Given the description of an element on the screen output the (x, y) to click on. 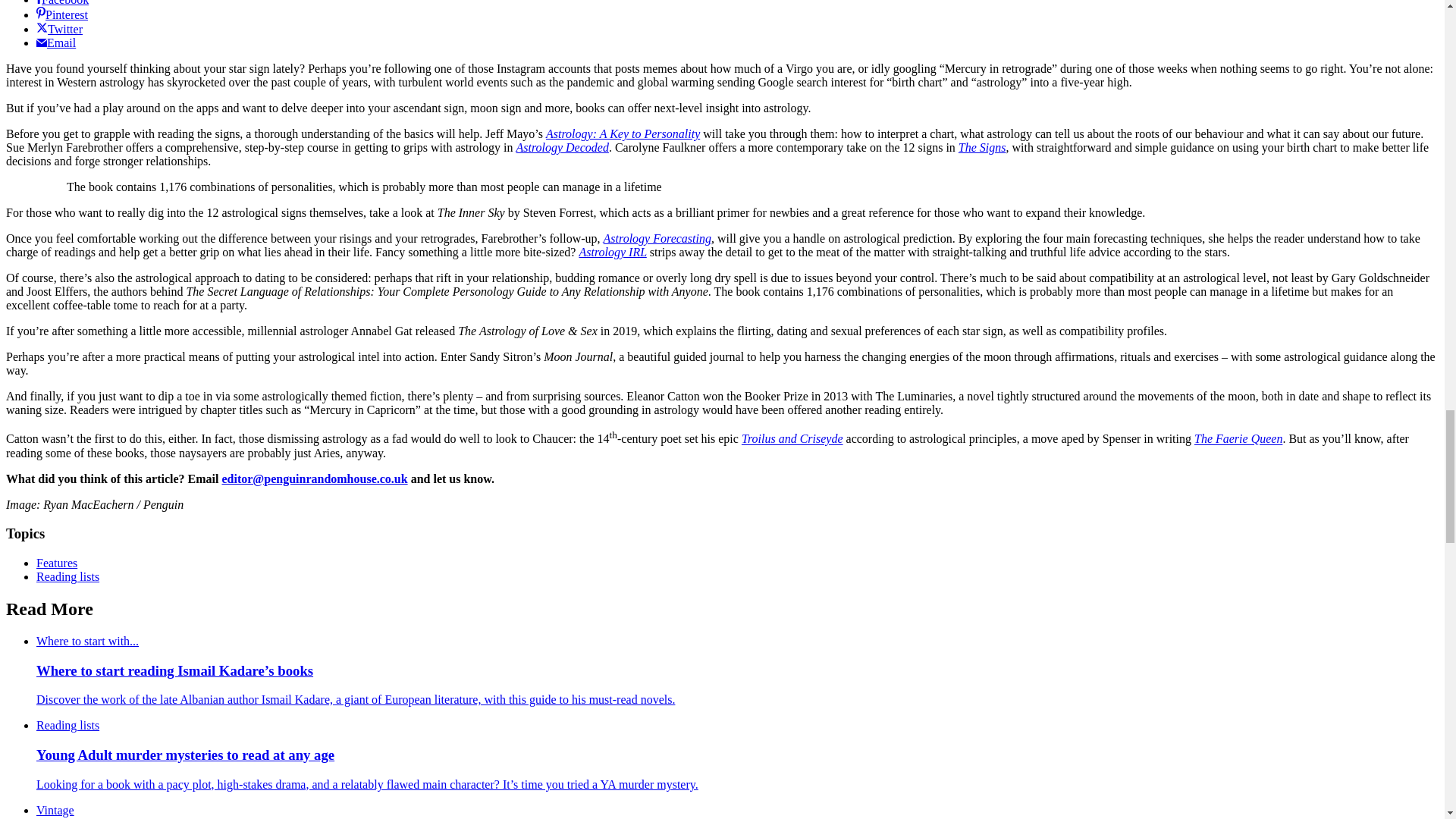
Pinterest (61, 14)
Facebook (62, 2)
Astrology Forecasting (657, 237)
Email (55, 42)
Twitter (59, 29)
Astrology Decoded (561, 146)
Troilus and Criseyde (792, 439)
The Signs (982, 146)
The Faerie Queen (1237, 439)
Astrology: A Key to Personality (623, 133)
Astrology IRL (612, 251)
Reading lists (67, 576)
Features (56, 562)
